Given the description of an element on the screen output the (x, y) to click on. 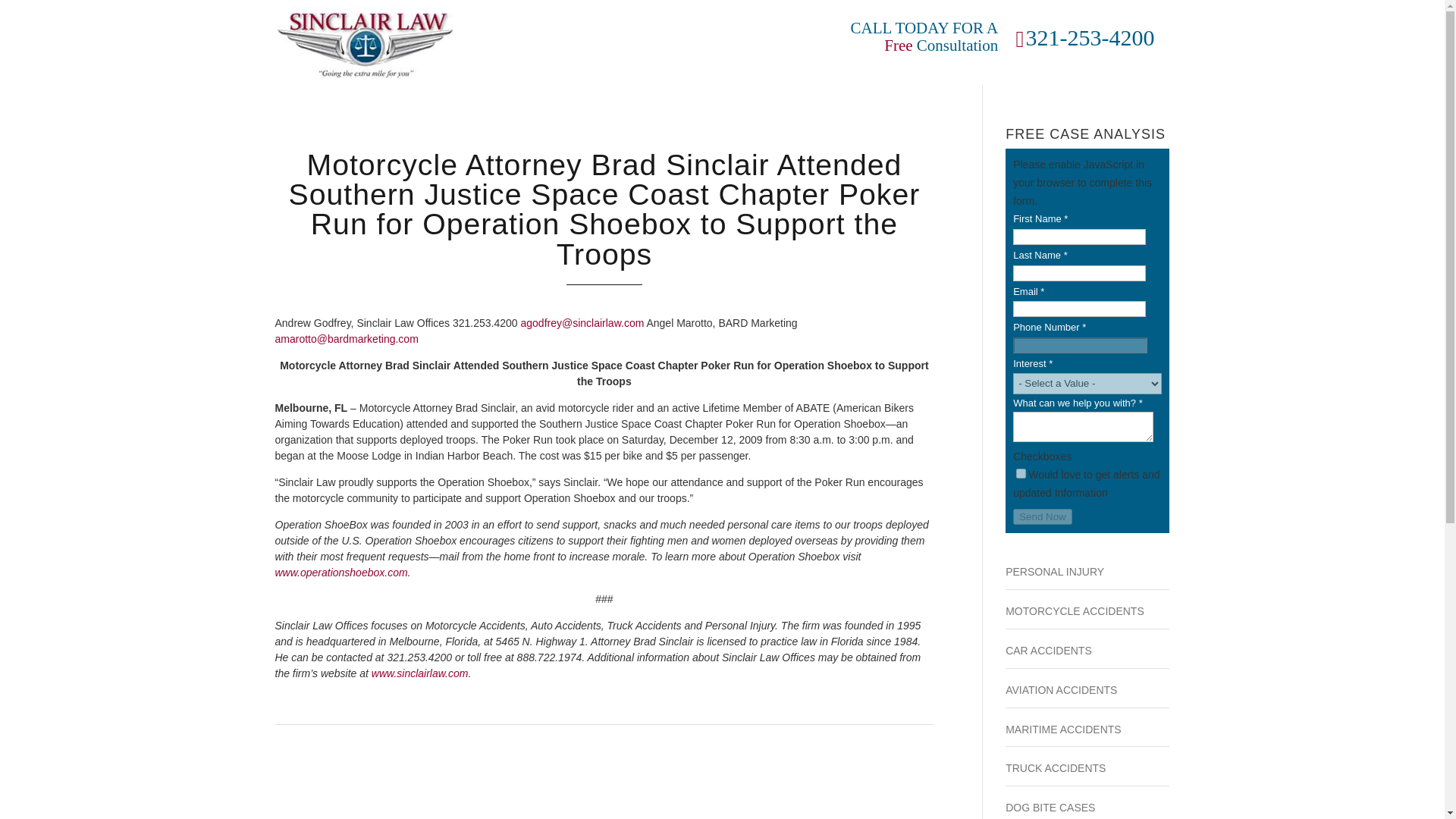
PERSONAL INJURY (1054, 571)
www.operationshoebox.com (341, 572)
TRUCK ACCIDENTS (1055, 767)
AVIATION ACCIDENTS (1061, 689)
www.sinclairlaw.com (419, 673)
EVENTS (728, 43)
Send Now (1042, 516)
CONTACT US (656, 43)
MARITIME ACCIDENTS (1063, 729)
DOG BITE CASES (1050, 807)
